Given the description of an element on the screen output the (x, y) to click on. 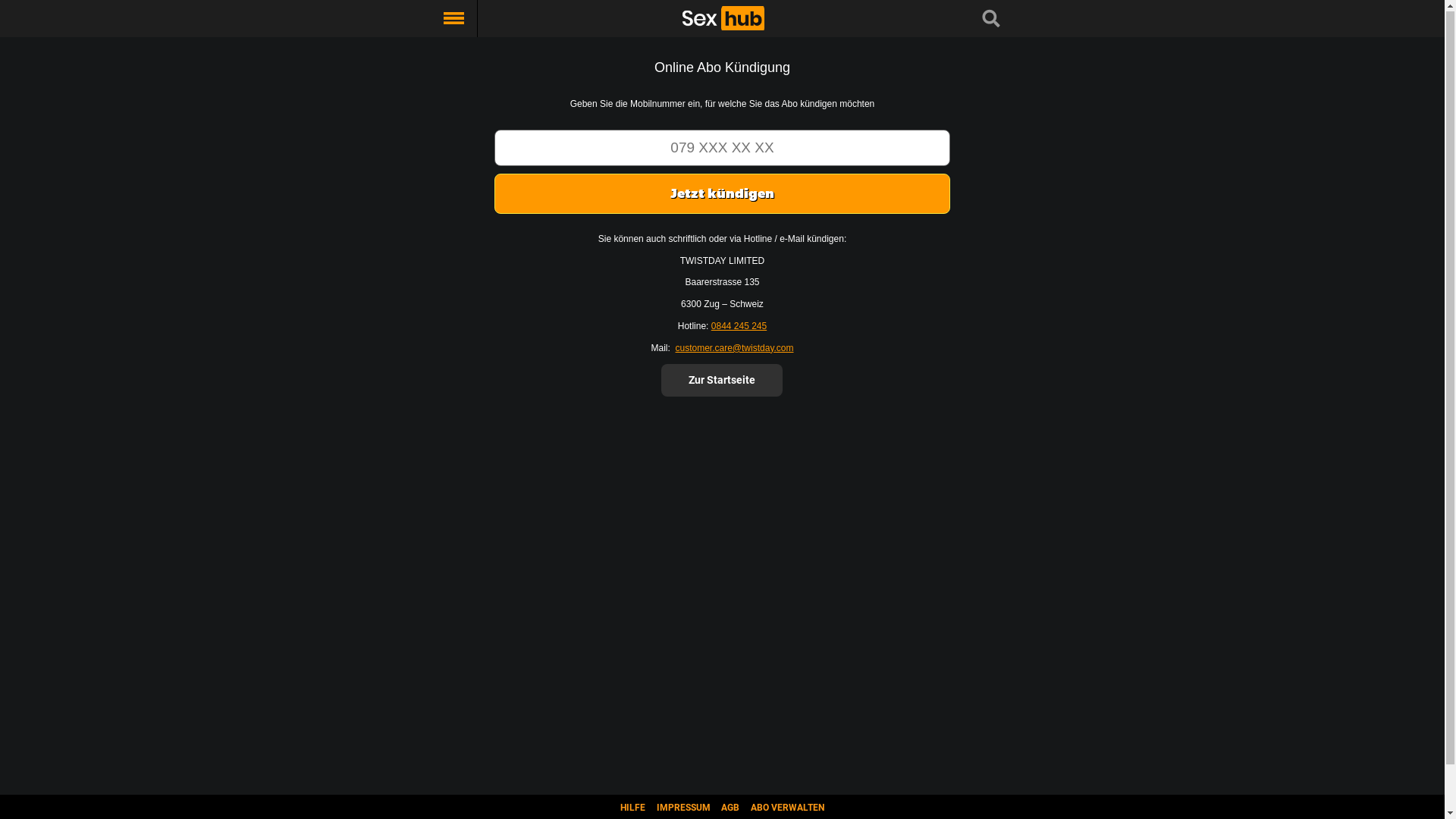
ABO VERWALTEN Element type: text (787, 808)
Zur Startseite Element type: text (721, 381)
HILFE Element type: text (632, 808)
AGB Element type: text (98, 136)
AGB Element type: text (730, 808)
customer.care@twistday.com Element type: text (733, 348)
Home Element type: text (98, 17)
IMPRESSUM Element type: text (683, 808)
Hilfe Element type: text (98, 67)
0844 245 245 Element type: text (738, 326)
Impressum Element type: text (98, 101)
Abo Verwalten Element type: text (98, 170)
